Given the description of an element on the screen output the (x, y) to click on. 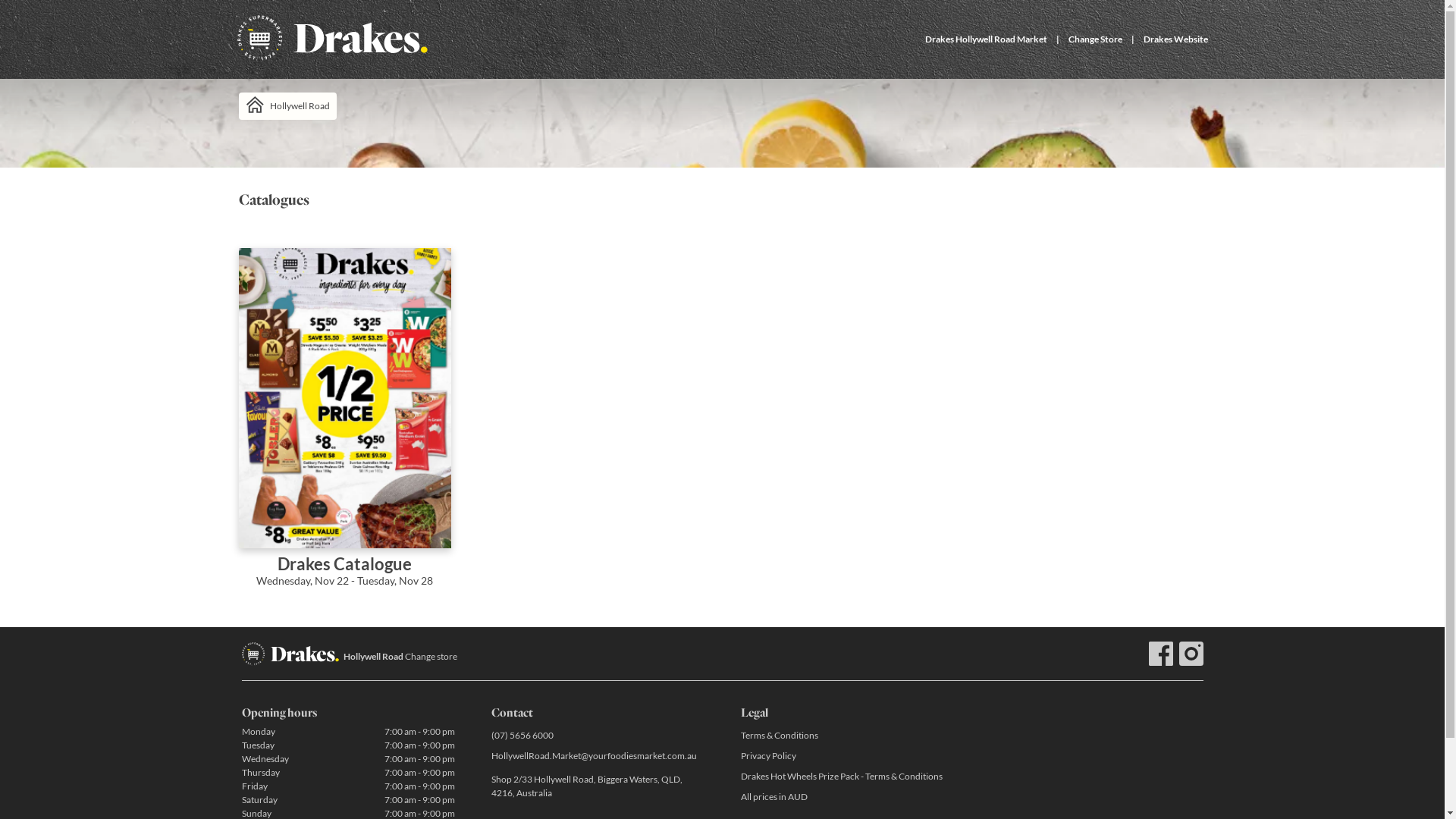
Change Store Element type: text (1094, 38)
Hollywell Road Change store Element type: text (399, 656)
Facebook Element type: hover (1160, 653)
Drakes Hot Wheels Prize Pack - Terms & Conditions Element type: text (846, 775)
Drakes Catalogue
Wednesday, Nov 22 - Tuesday, Nov 28 Element type: text (344, 427)
Instagram drakessupermarkets Element type: hover (1190, 653)
Terms & Conditions Element type: text (846, 734)
(07) 5656 6000 Element type: text (597, 734)
HollywellRoad.Market@yourfoodiesmarket.com.au Element type: text (597, 755)
Privacy Policy Element type: text (846, 755)
Drakes Website Element type: text (1175, 38)
Hollywell Road Element type: text (286, 105)
